Given the description of an element on the screen output the (x, y) to click on. 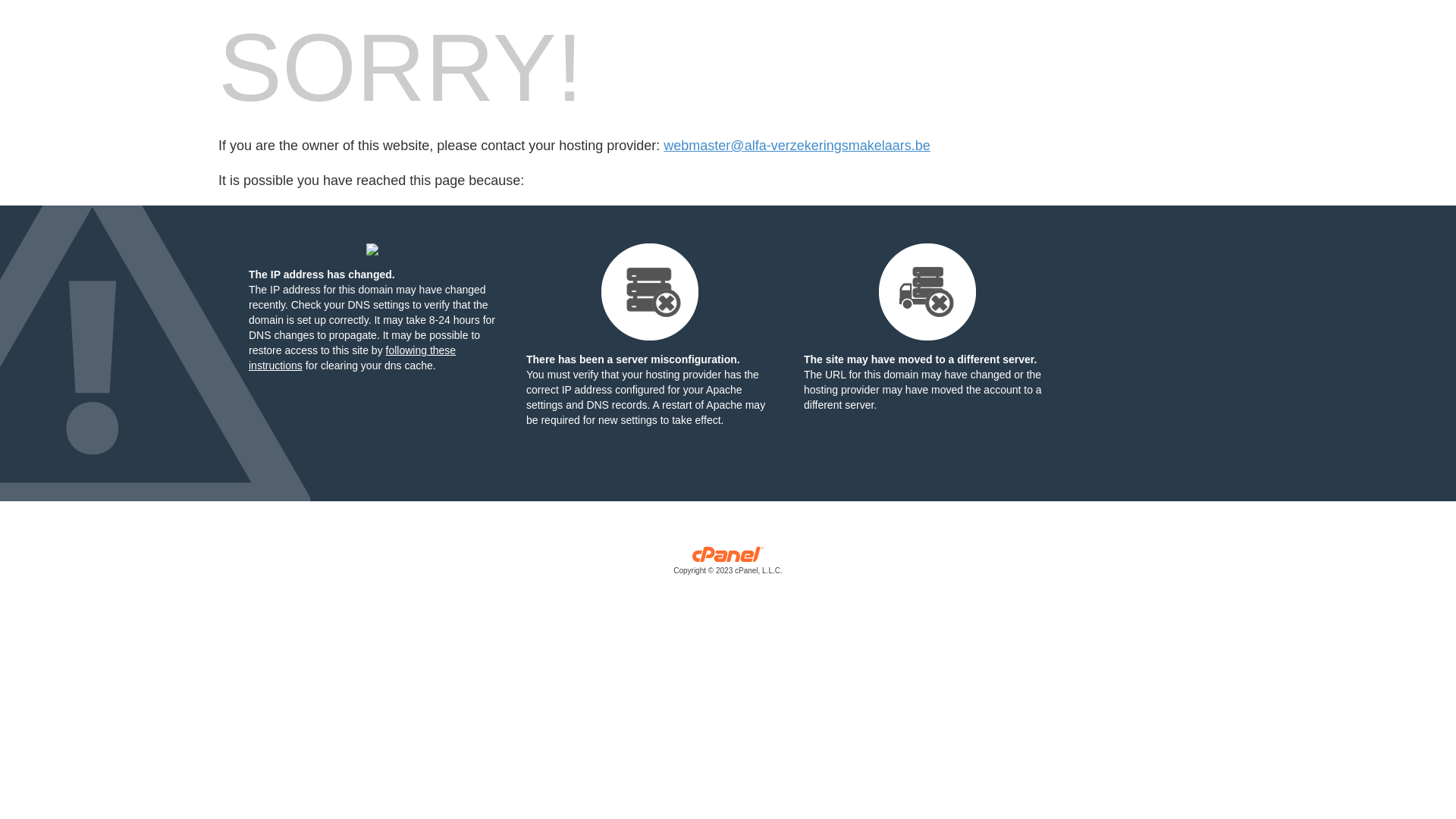
following these instructions Element type: text (351, 357)
webmaster@alfa-verzekeringsmakelaars.be Element type: text (796, 145)
